Given the description of an element on the screen output the (x, y) to click on. 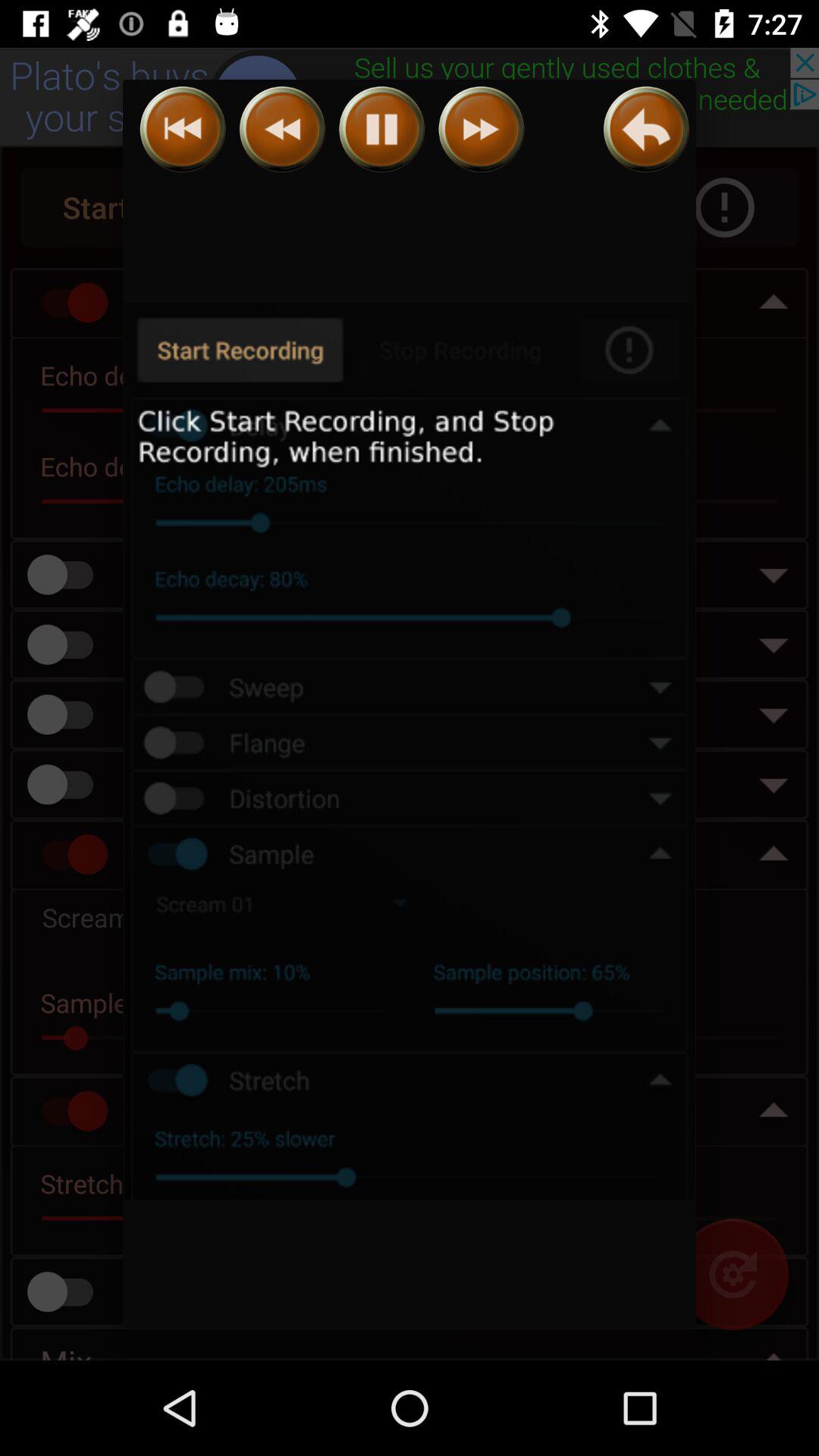
rewind (182, 129)
